Given the description of an element on the screen output the (x, y) to click on. 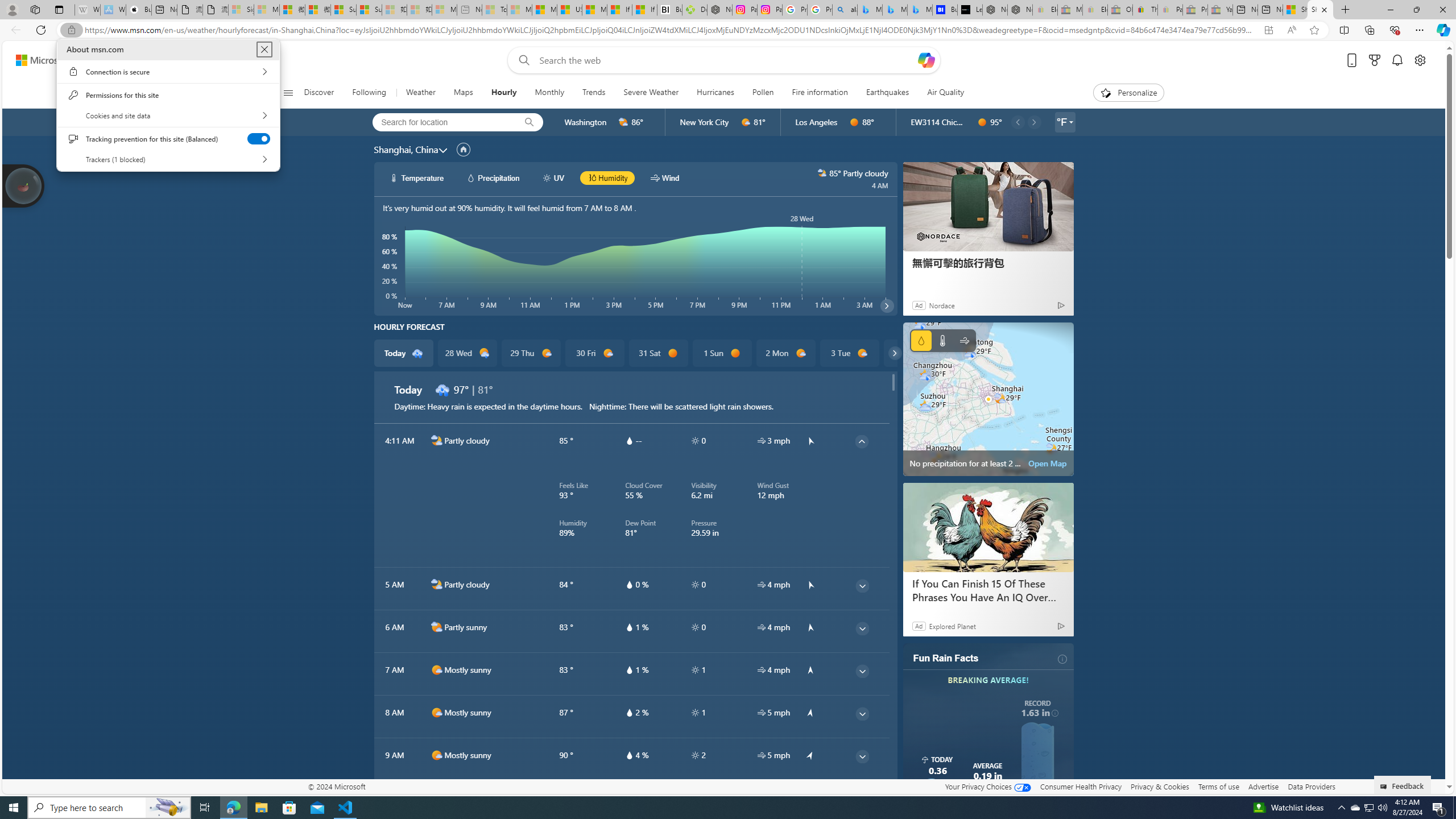
d2000 (436, 627)
Sign in to your Microsoft account - Sleeping (241, 9)
